Given the description of an element on the screen output the (x, y) to click on. 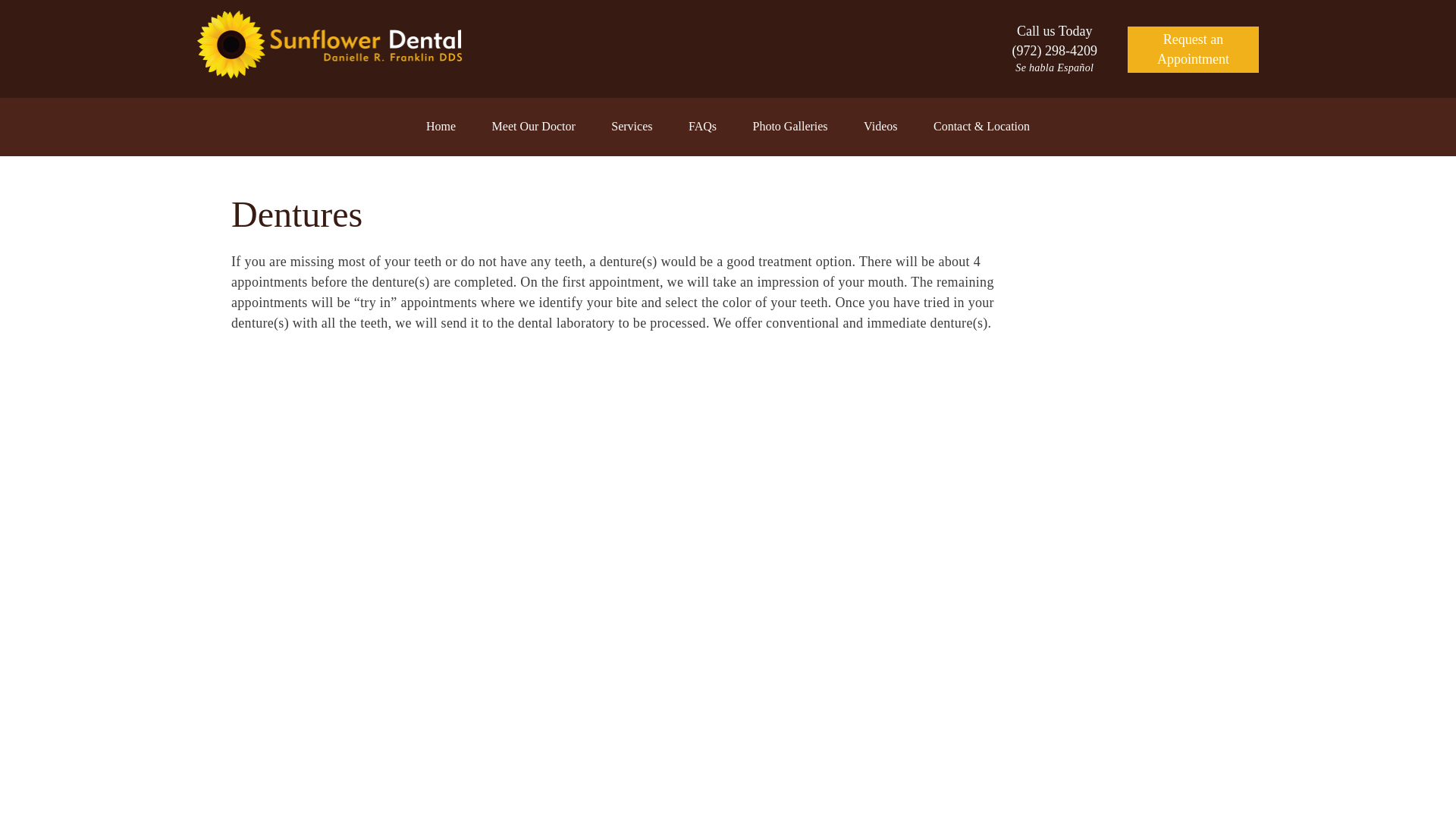
Services (631, 126)
Meet Our Doctor (533, 126)
Home (440, 126)
